Given the description of an element on the screen output the (x, y) to click on. 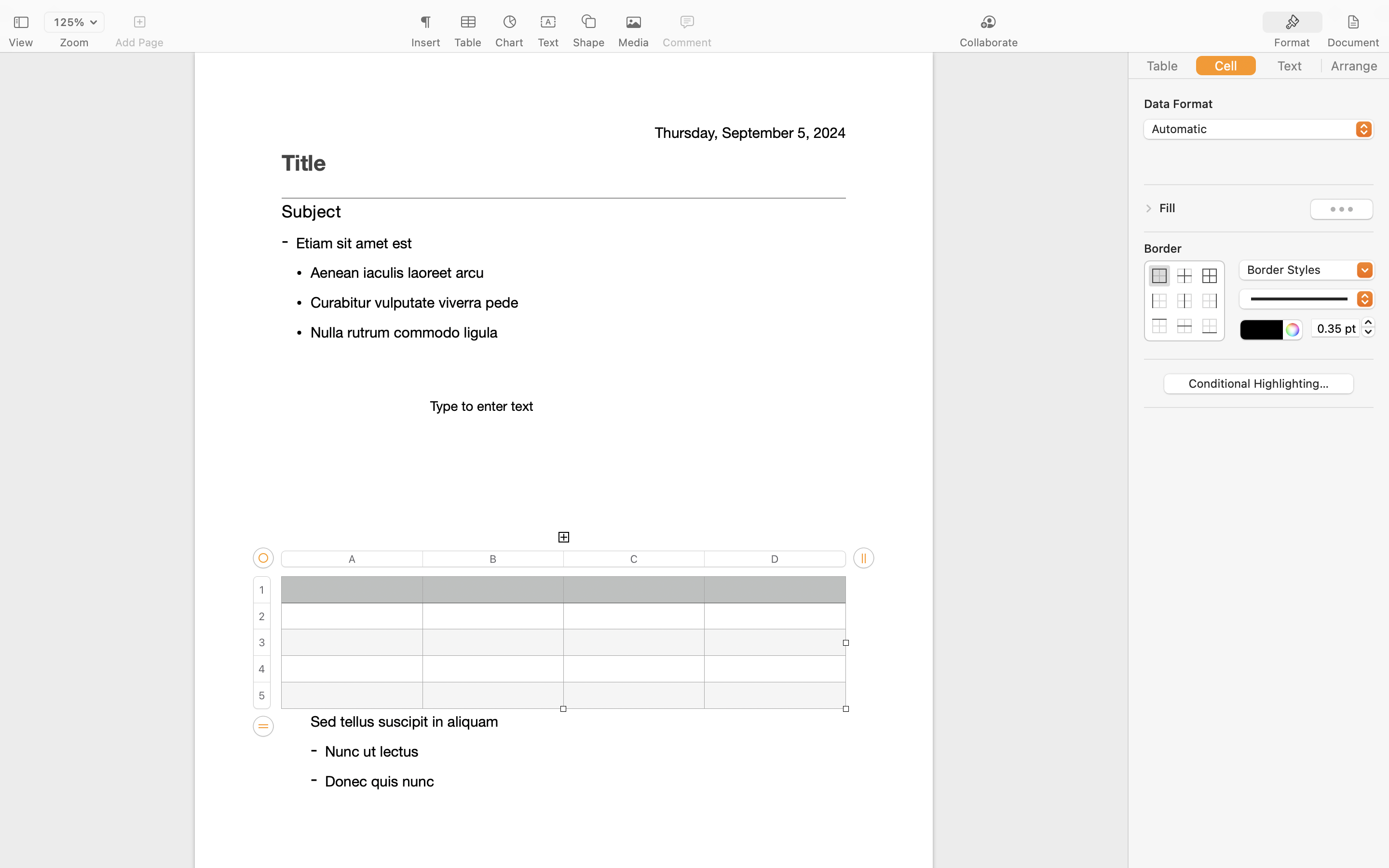
Document Element type: AXStaticText (1352, 42)
Click to link text boxes together. Element type: AXStaticText (563, 284)
View Element type: AXStaticText (20, 42)
Untitled Element type: AXStaticText (667, 12)
